Given the description of an element on the screen output the (x, y) to click on. 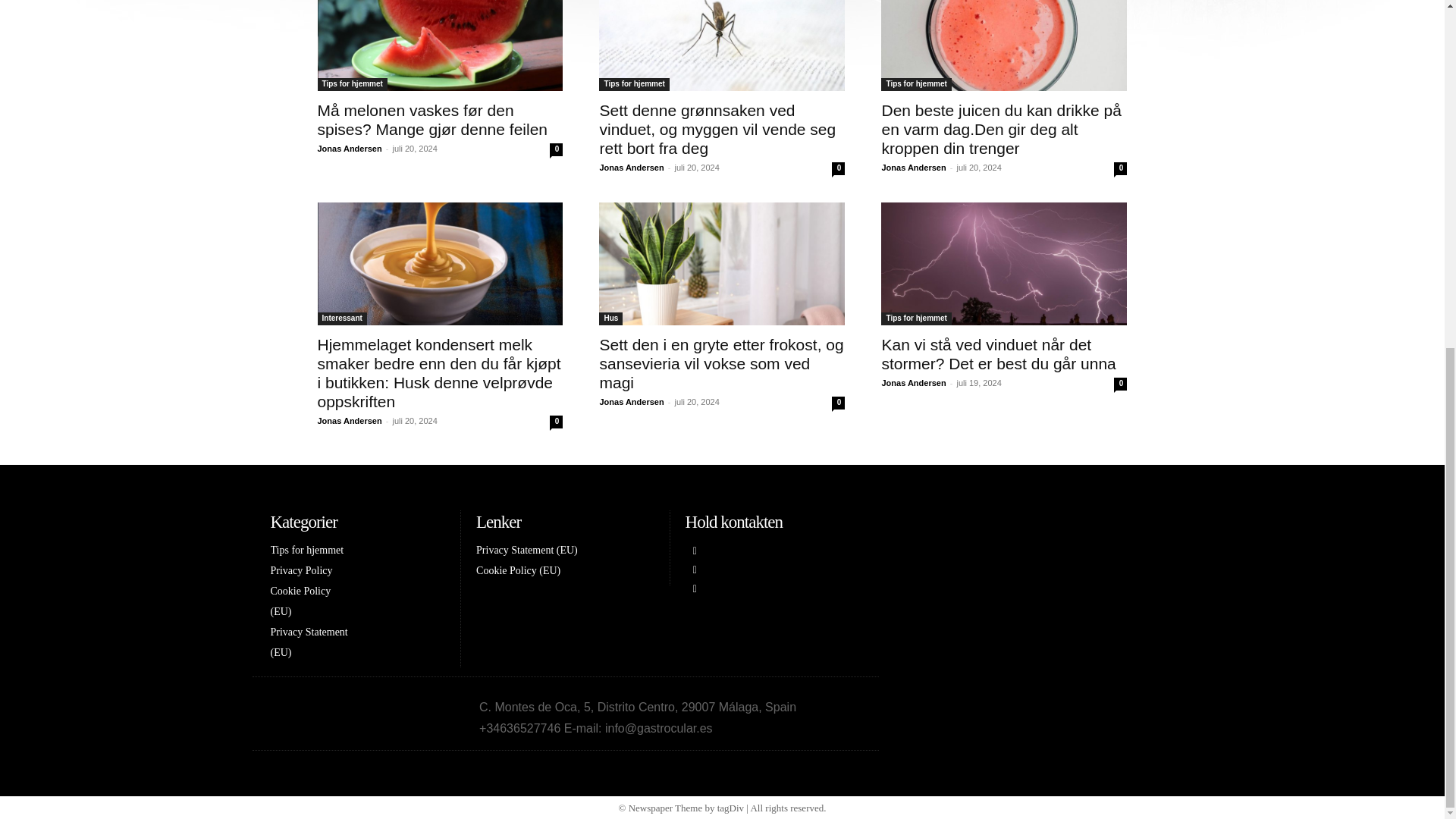
0 (556, 149)
Jonas Andersen (349, 148)
Tips for hjemmet (633, 83)
Tips for hjemmet (352, 83)
